Given the description of an element on the screen output the (x, y) to click on. 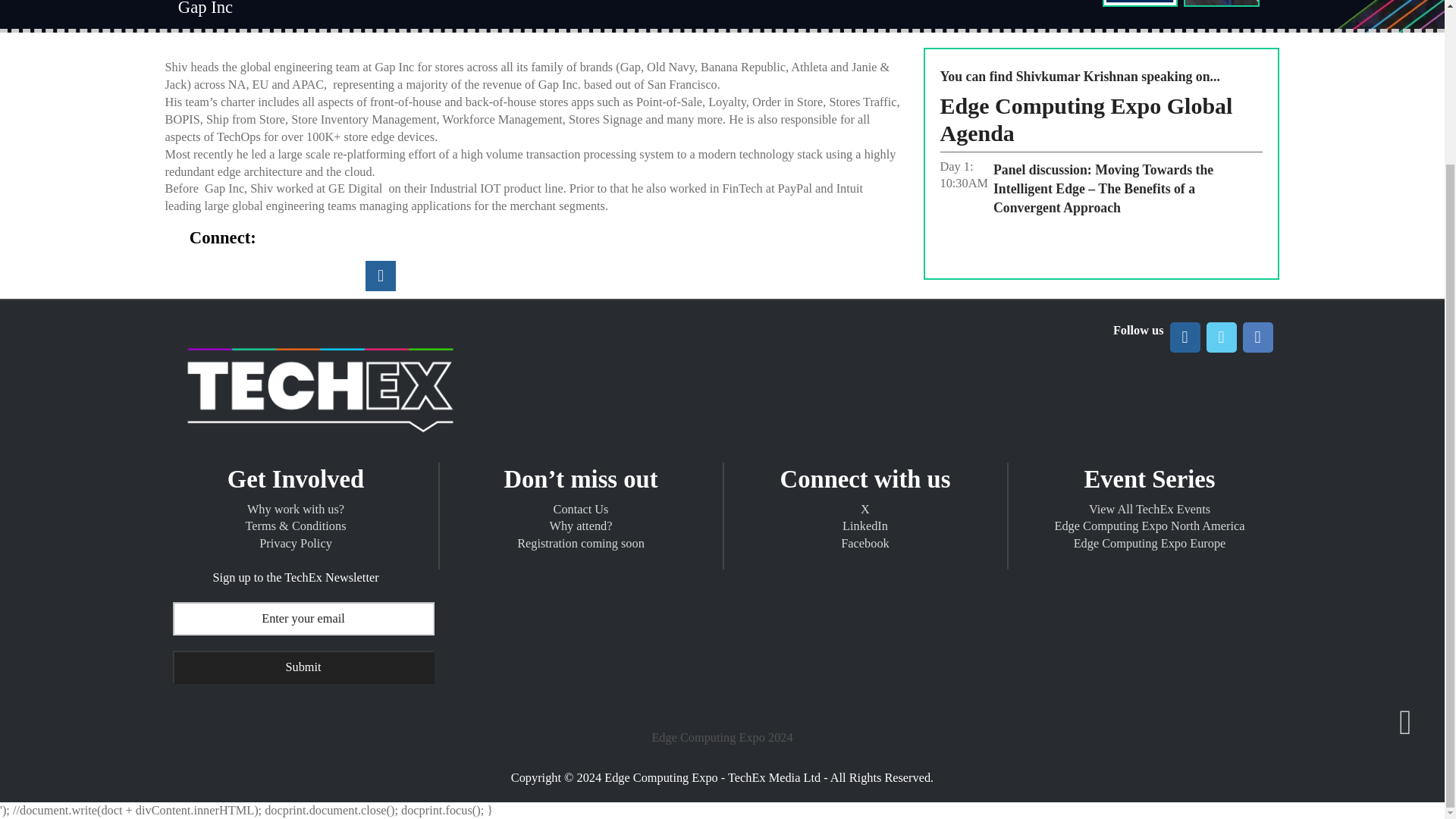
Facebook (1256, 337)
Twitter (1220, 337)
LinkedIn (380, 276)
Submit (303, 666)
LinkedIn (1184, 337)
Edge Computing Expo Global (319, 445)
Enter your email (303, 618)
